Given the description of an element on the screen output the (x, y) to click on. 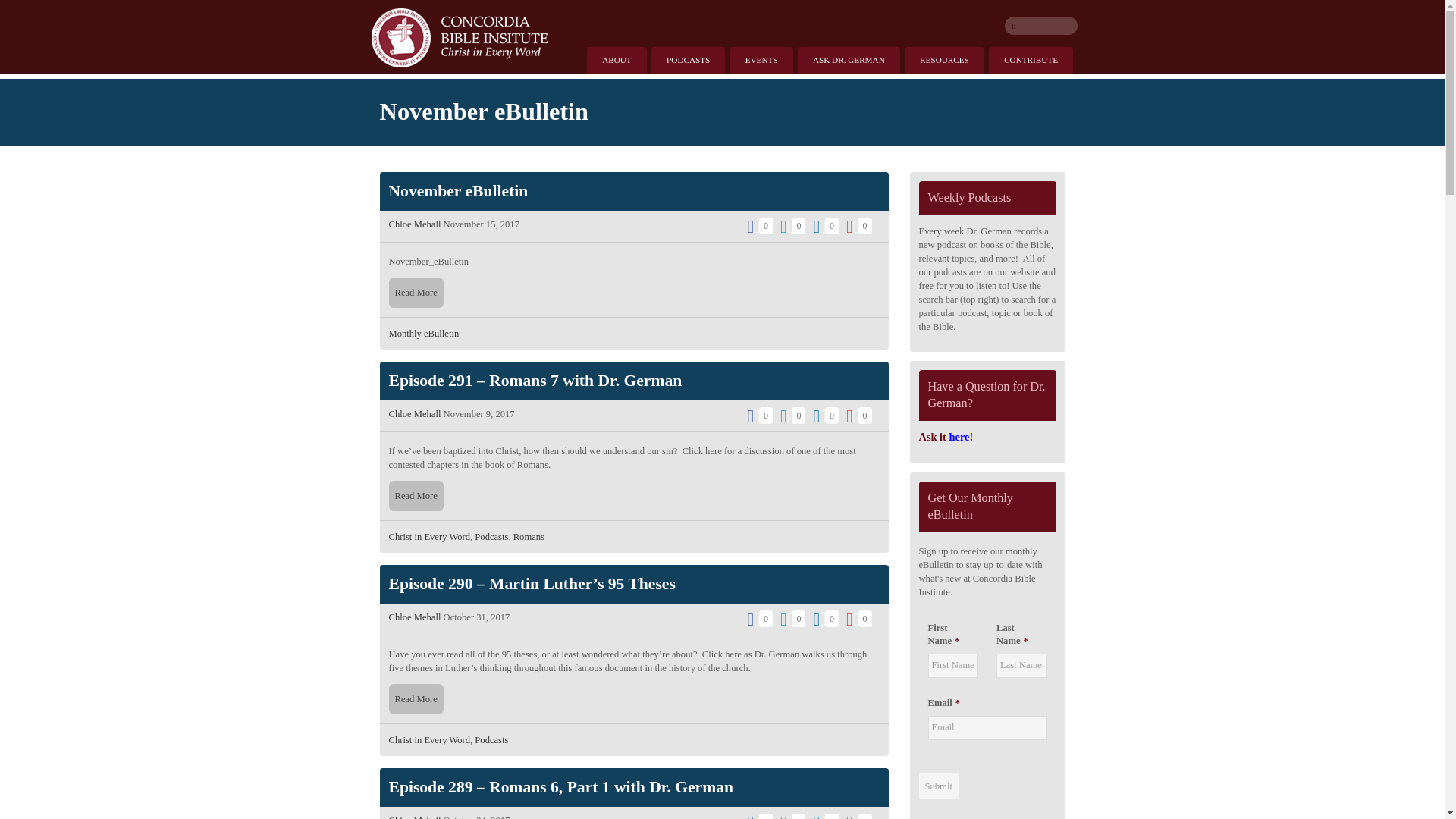
Posts by Chloe Mehall (414, 616)
PODCASTS (687, 59)
ASK DR. GERMAN (848, 59)
Submit (938, 786)
November eBulletin (457, 190)
Posts by Chloe Mehall (414, 413)
EVENTS (761, 59)
Posts by Chloe Mehall (414, 816)
ABOUT (616, 59)
RESOURCES (944, 59)
